Given the description of an element on the screen output the (x, y) to click on. 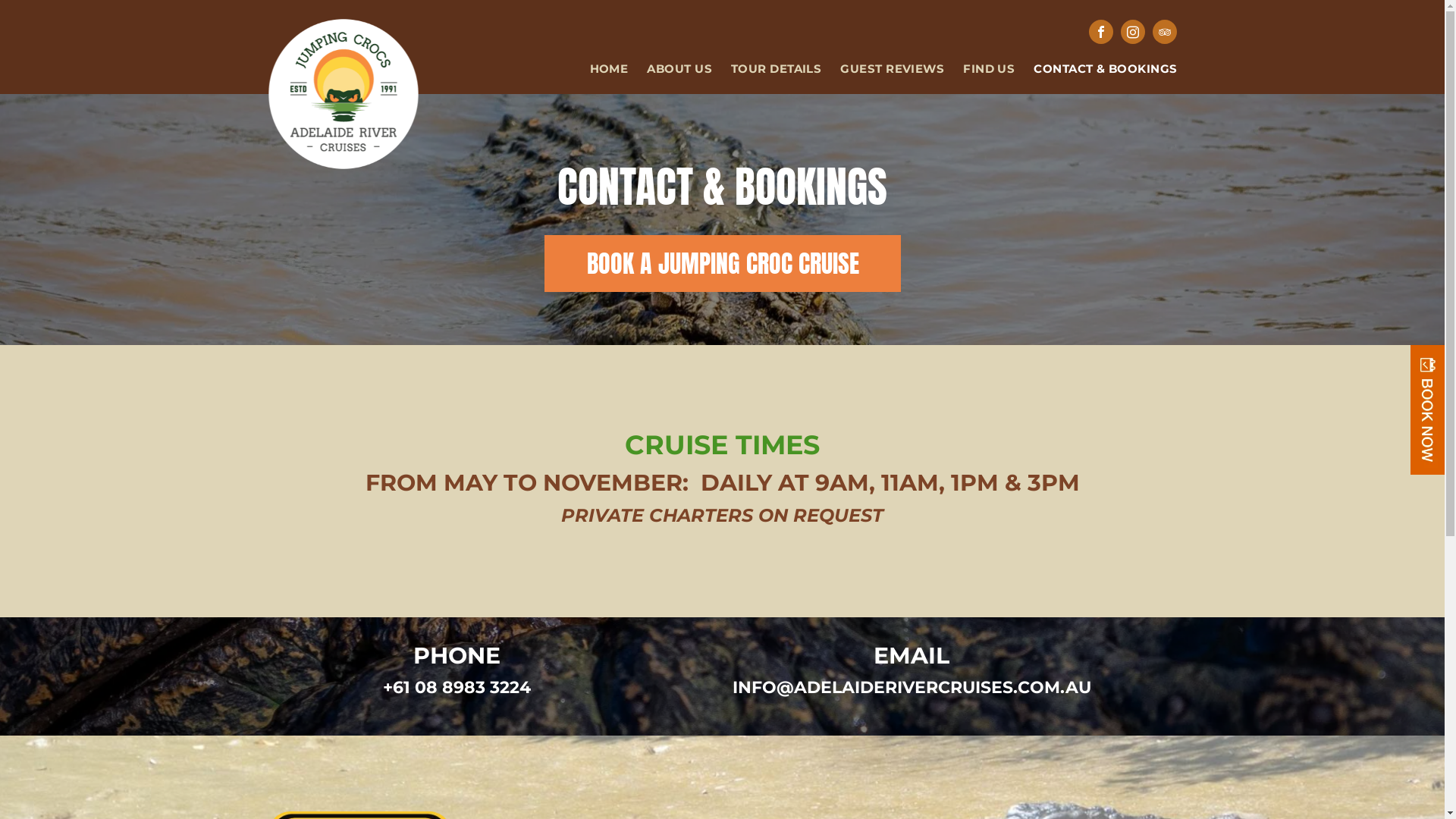
+61 08 8983 3224 Element type: text (456, 687)
FIND US Element type: text (979, 69)
HOME Element type: text (599, 69)
GUEST REVIEWS Element type: text (882, 69)
TOUR DETAILS Element type: text (766, 69)
INFO@ADELAIDERIVERCRUISES.COM.AU Element type: text (911, 687)
ABOUT US Element type: text (669, 69)
CONTACT & BOOKINGS Element type: text (1095, 69)
BOOK A JUMPING CROC CRUISE Element type: text (722, 263)
